Given the description of an element on the screen output the (x, y) to click on. 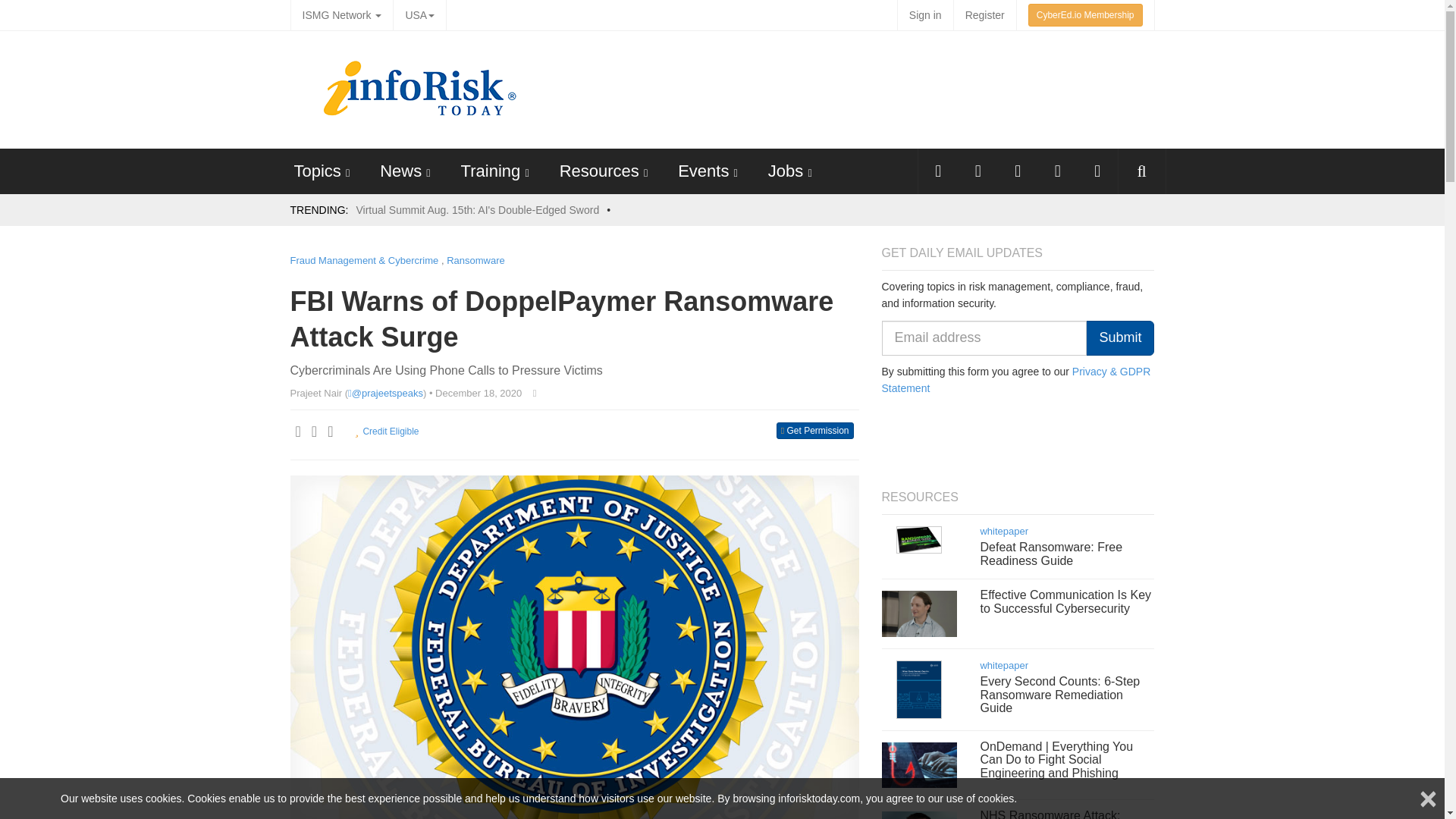
Topics (317, 170)
Register (984, 15)
Sign in (925, 15)
CyberEd.io Membership (1084, 15)
ISMG Network (341, 15)
USA (418, 15)
